Given the description of an element on the screen output the (x, y) to click on. 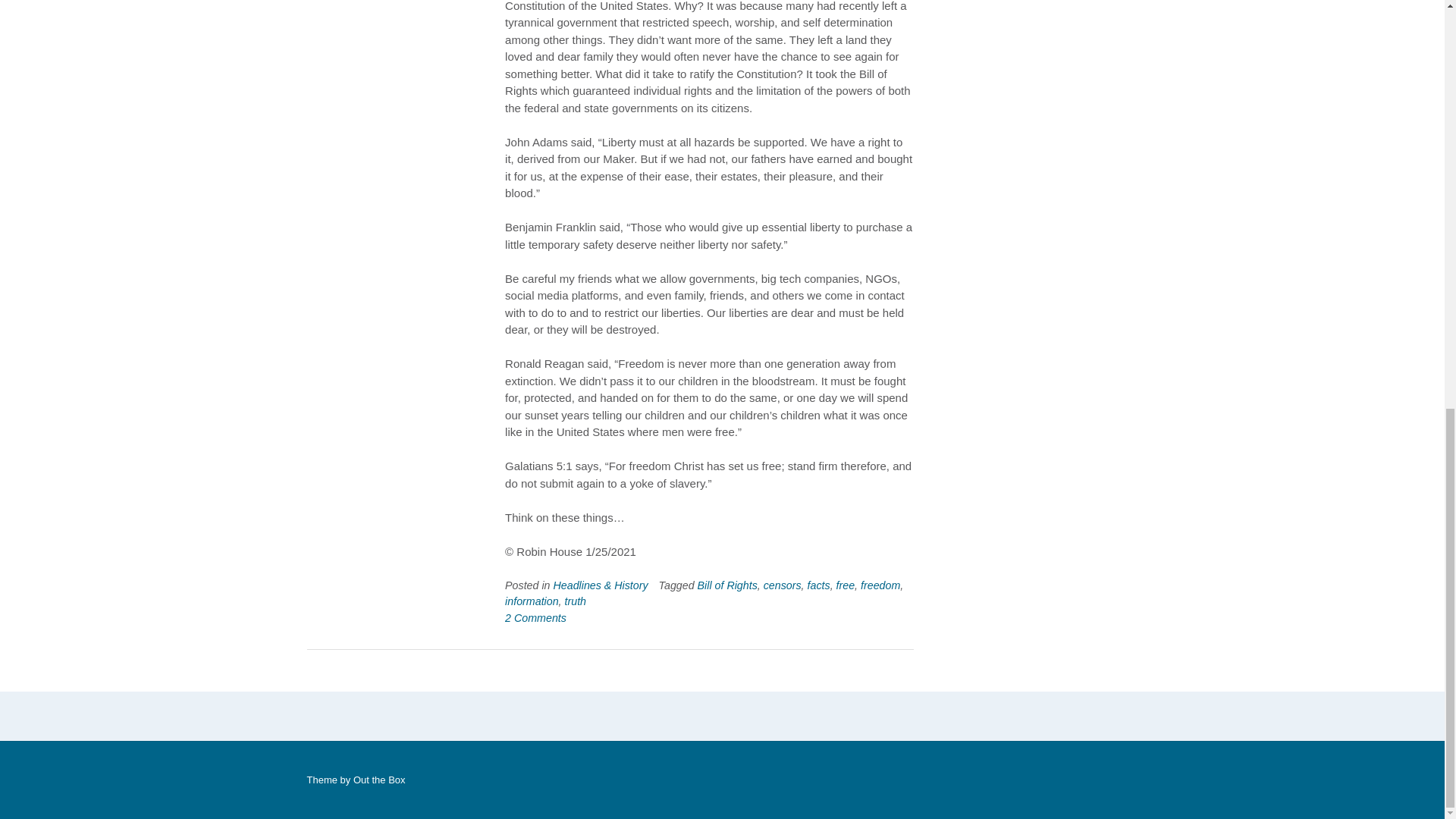
facts (818, 585)
free (845, 585)
2 Comments (535, 617)
information (532, 601)
freedom (879, 585)
truth (575, 601)
Bill of Rights (727, 585)
censors (782, 585)
